Given the description of an element on the screen output the (x, y) to click on. 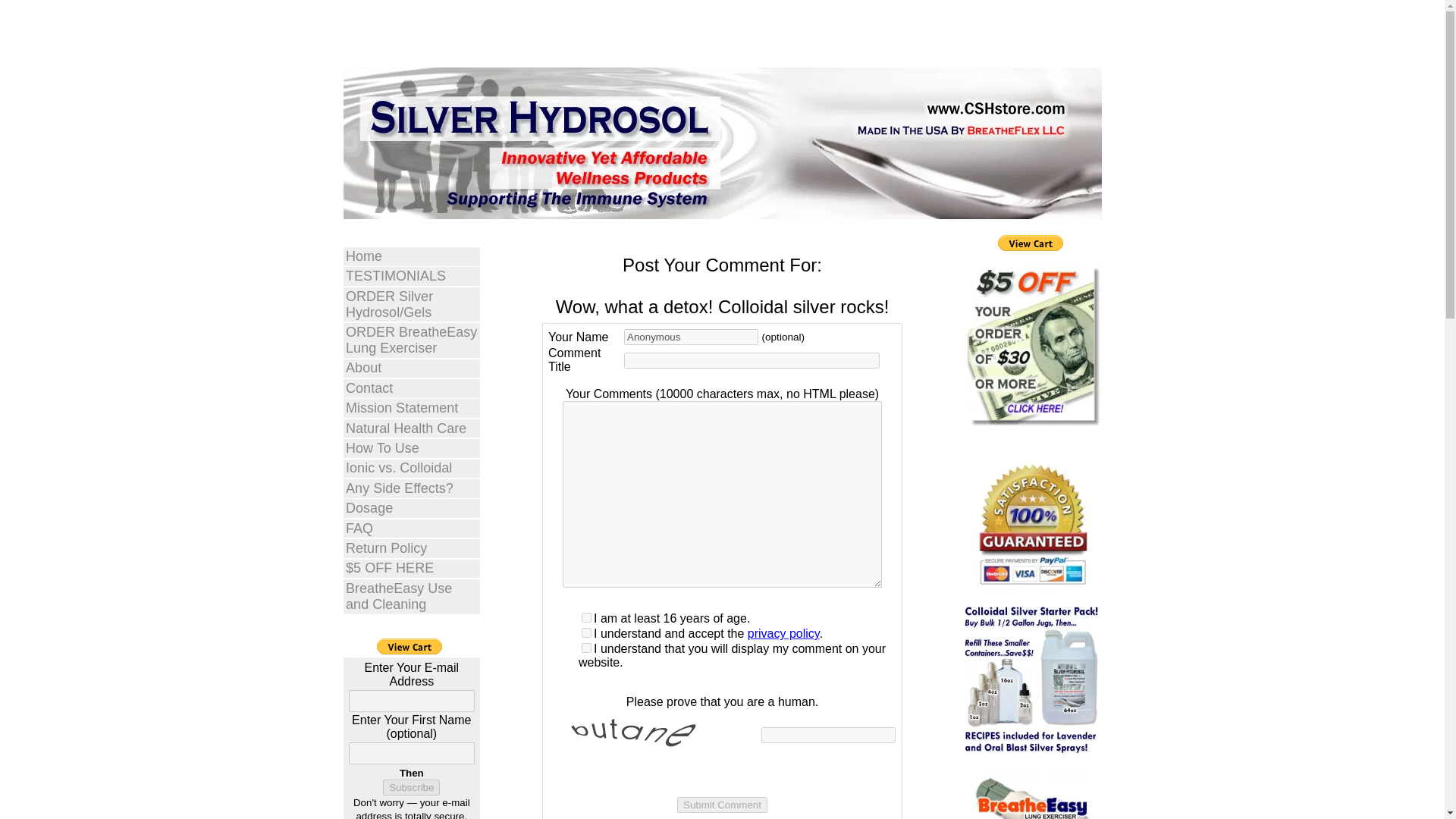
1 (585, 647)
Dosage (411, 507)
How To Use (411, 447)
Any Side Effects? (411, 488)
Home (411, 256)
Submit Comment (722, 804)
FAQ (411, 528)
About (411, 368)
TESTIMONIALS (411, 275)
Anonymous (691, 336)
BreatheEasy Use and Cleaning (411, 596)
1 (585, 617)
1 (585, 633)
Natural Health Care (411, 428)
Contact (411, 388)
